Given the description of an element on the screen output the (x, y) to click on. 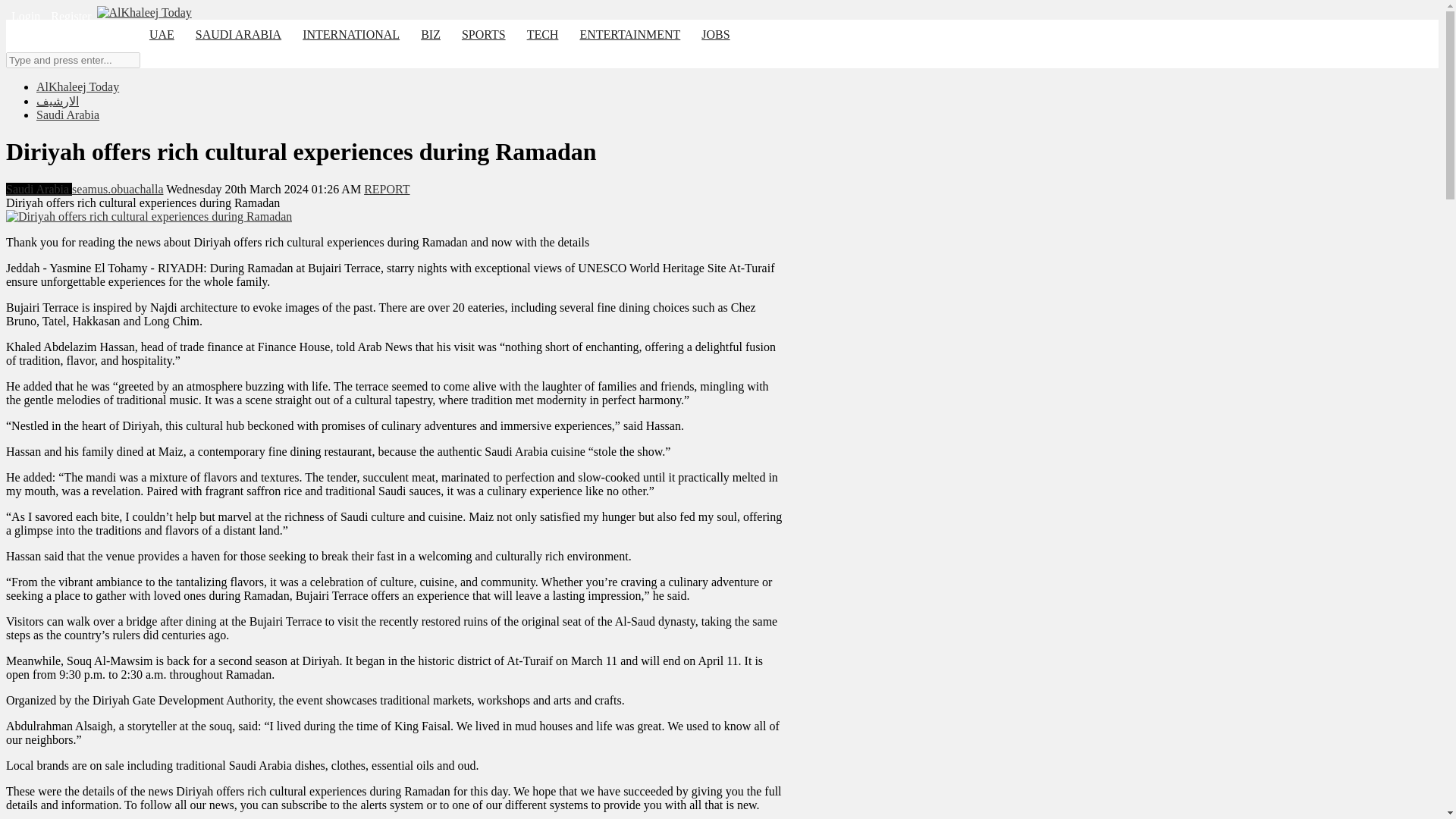
SAUDI ARABIA (238, 35)
Diriyah offers rich cultural experiences during Ramadan (148, 215)
Saudi Arabia (67, 114)
UAE (161, 35)
SPORTS (483, 35)
Saudi Arabia (38, 188)
Register (70, 16)
JOBS (714, 35)
INTERNATIONAL (351, 35)
AlKhaleej Today (77, 86)
REPORT (386, 188)
ENTERTAINMENT (629, 35)
seamus.obuachalla (117, 188)
Login (25, 16)
BIZ (430, 35)
